Given the description of an element on the screen output the (x, y) to click on. 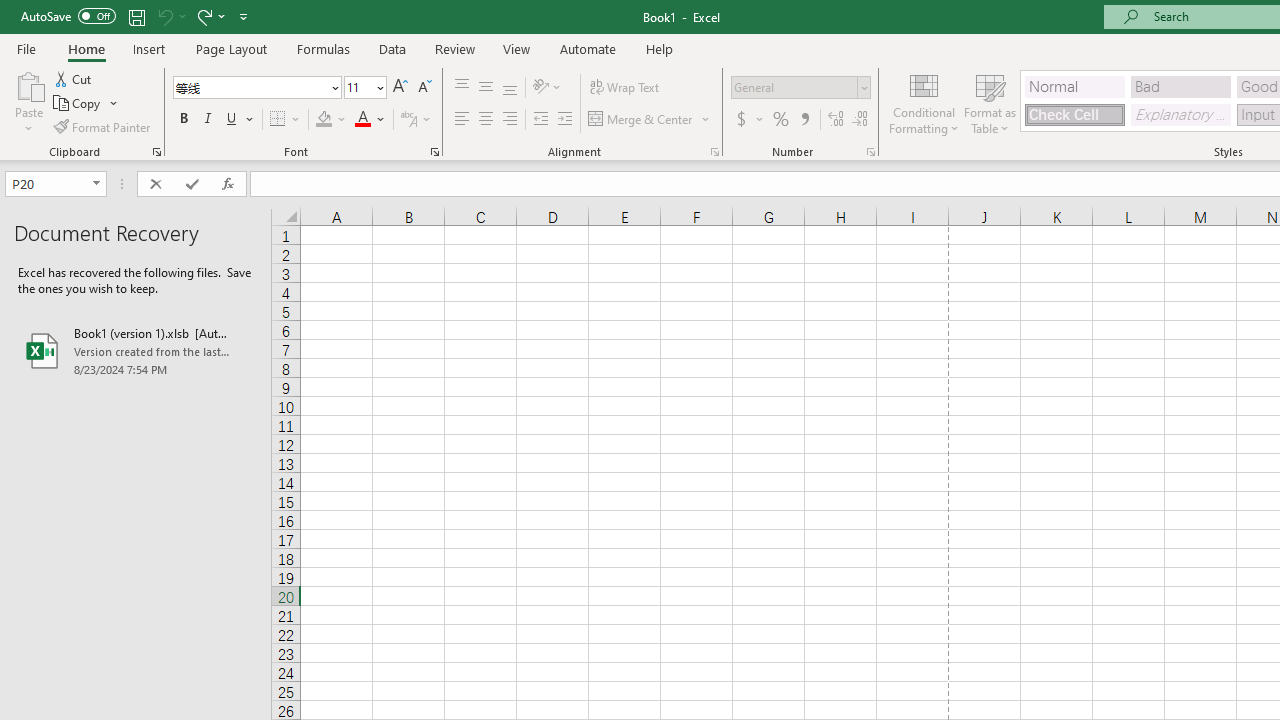
Comma Style (804, 119)
Underline (239, 119)
Number Format (800, 87)
Font (256, 87)
Top Align (461, 87)
Center (485, 119)
Fill Color (331, 119)
Font (250, 87)
Format as Table (990, 102)
Cut (73, 78)
Bold (183, 119)
Copy (85, 103)
